Given the description of an element on the screen output the (x, y) to click on. 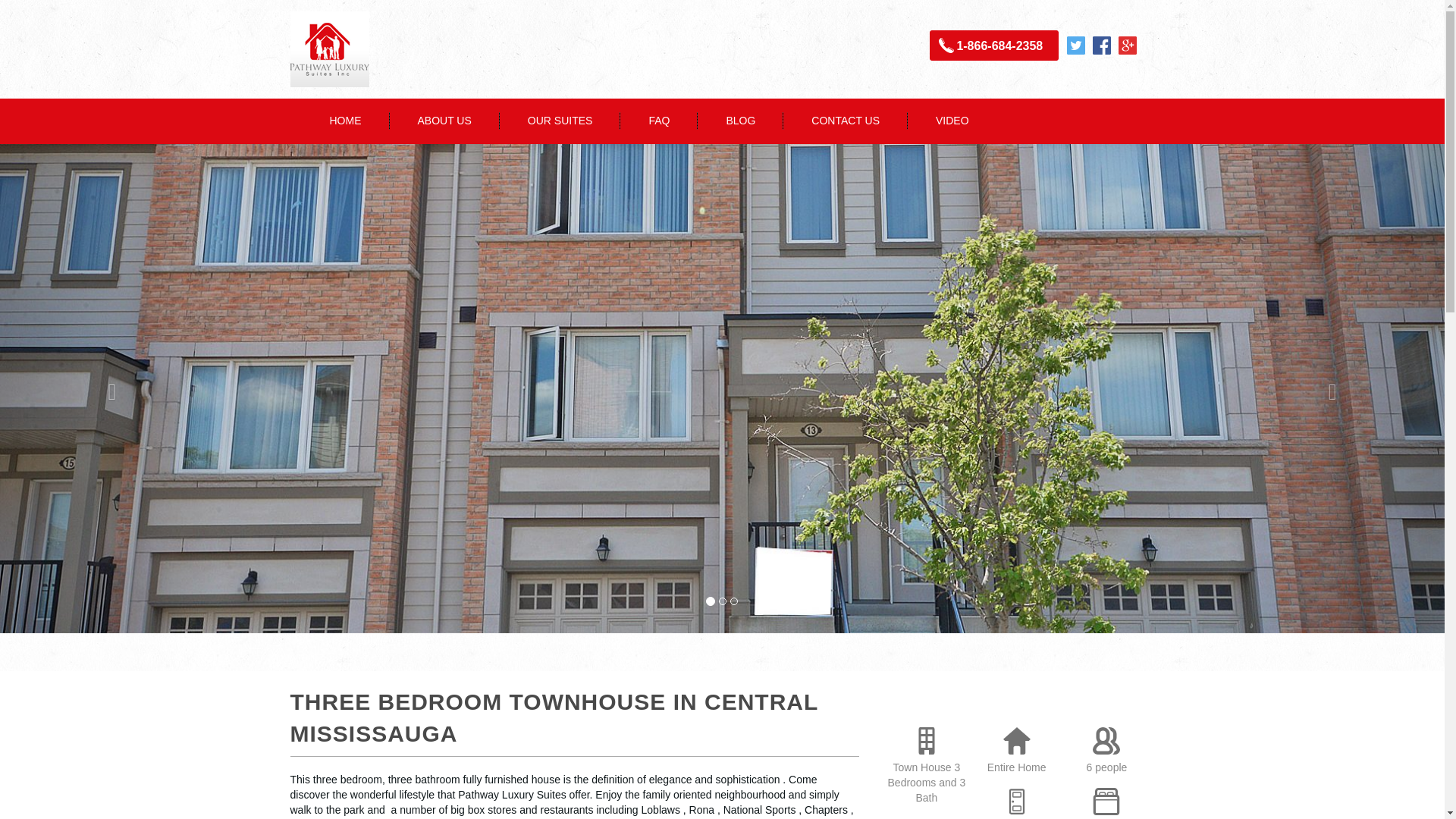
OUR SUITES (560, 121)
HOME (345, 121)
ABOUT US (444, 121)
VIDEO (952, 121)
FAQ (658, 121)
CONTACT US (845, 121)
BLOG (740, 121)
